Given the description of an element on the screen output the (x, y) to click on. 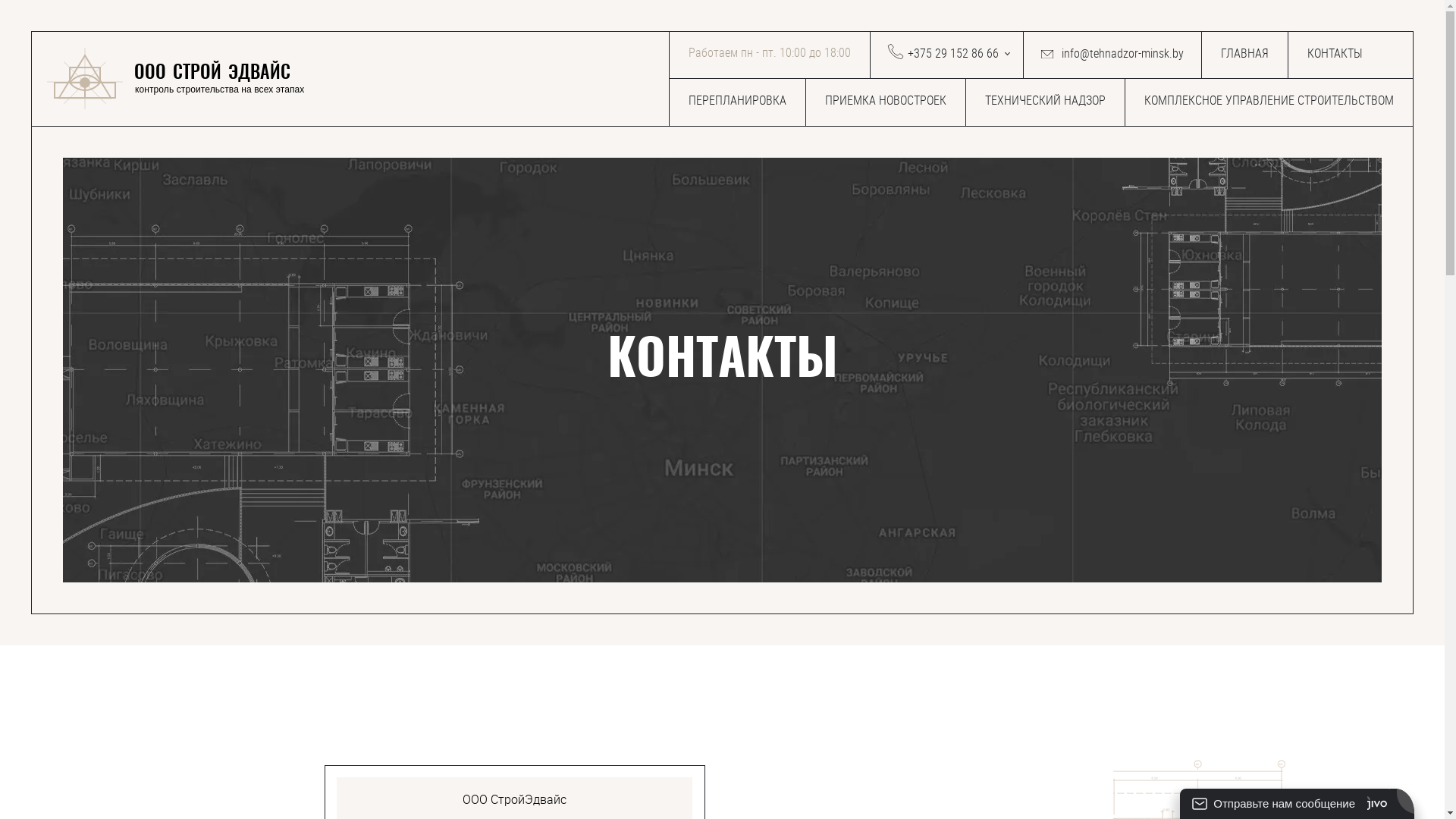
info@tehnadzor-minsk.by Element type: text (1112, 54)
+375 29 152 86 66 Element type: text (946, 54)
